Given the description of an element on the screen output the (x, y) to click on. 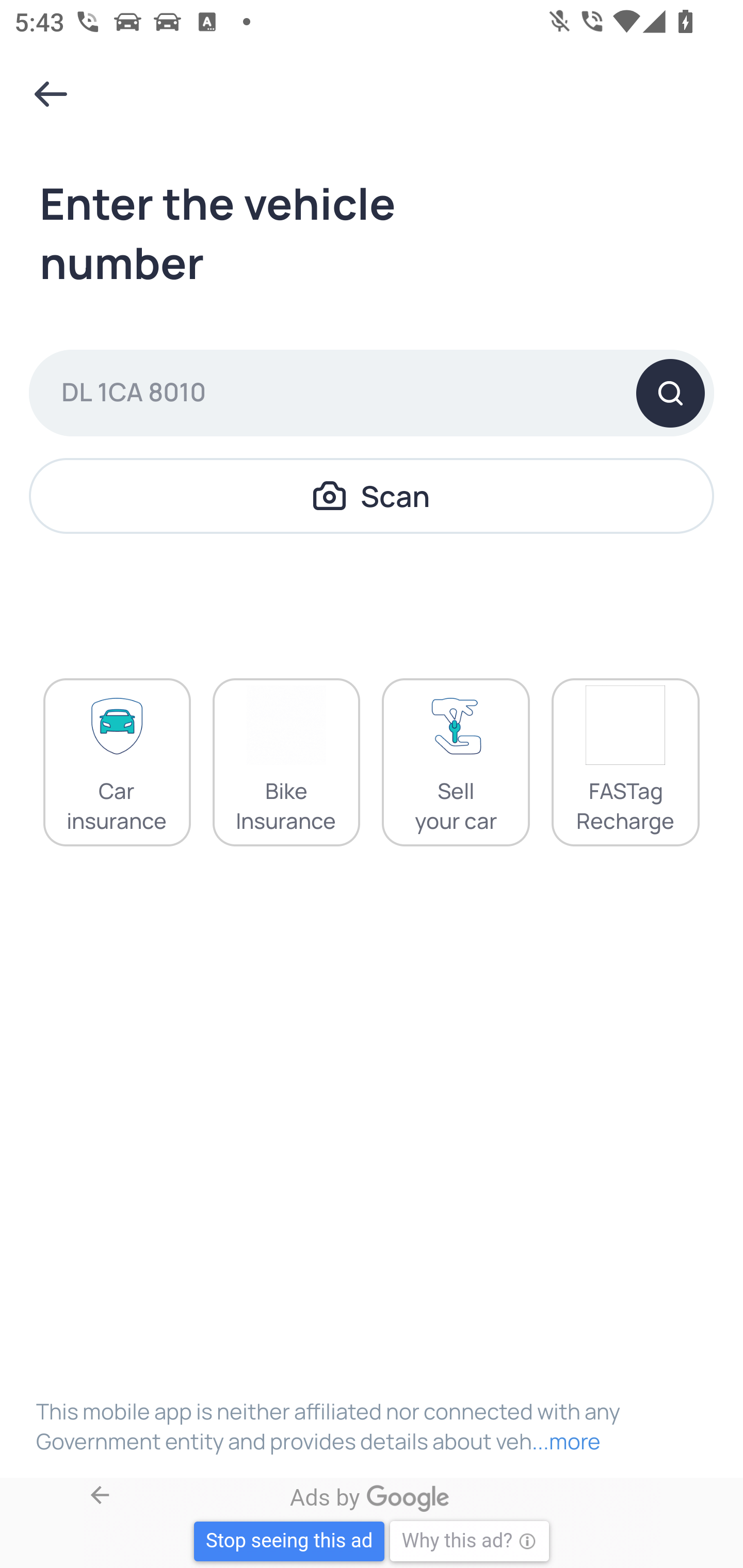
Navigate up (50, 93)
DL 1CA 8010 (371, 392)
Scan (371, 495)
Car
insurance (116, 762)
Bike
Insurance (286, 762)
Sell
your car (455, 762)
FASTag Recharge (625, 762)
